Given the description of an element on the screen output the (x, y) to click on. 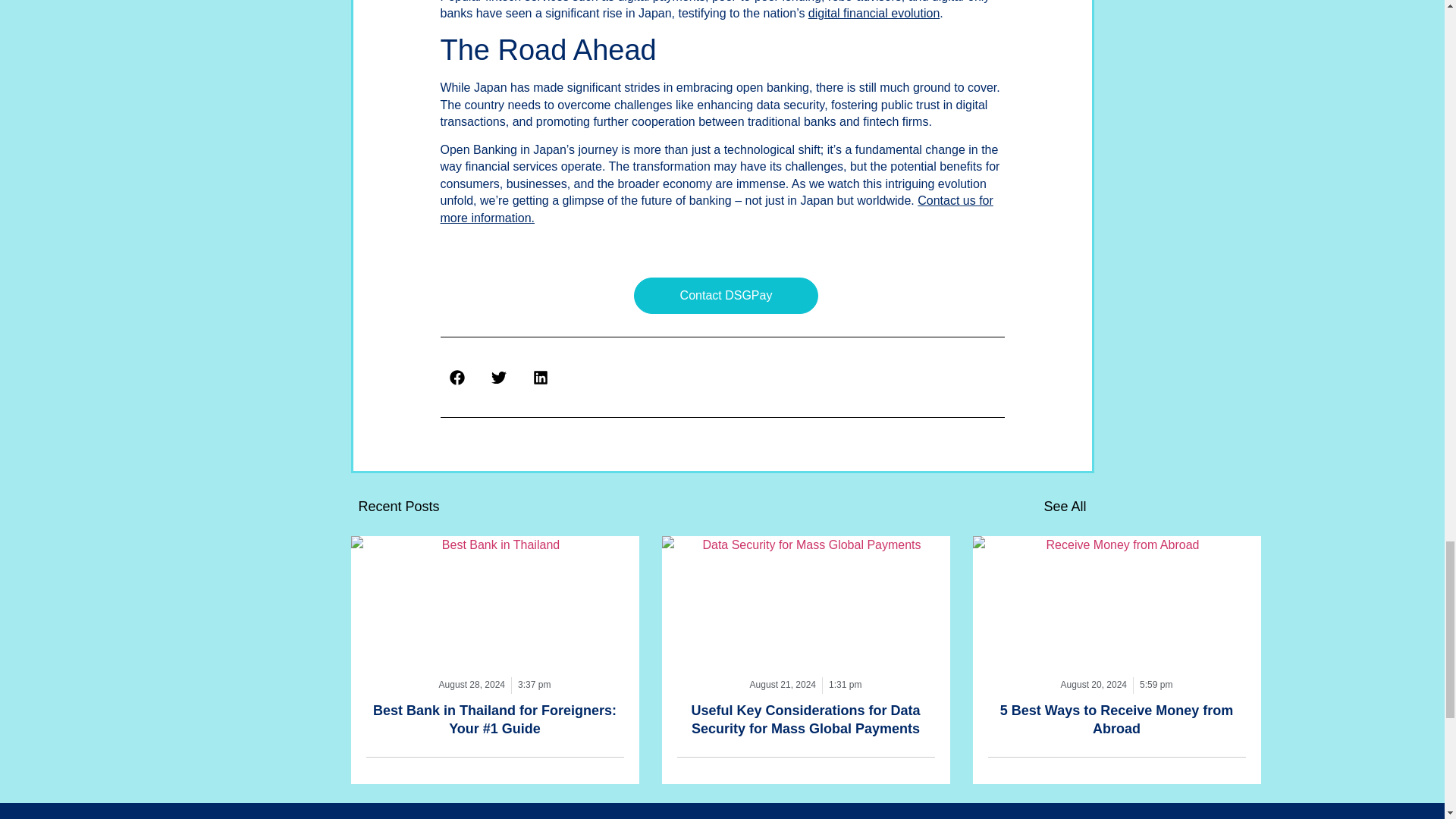
Contact DSGPay (725, 295)
5 Best Ways to Receive Money from Abroad (1116, 719)
See All (1064, 506)
Contact us for more information. (715, 208)
digital financial evolution (873, 12)
